Given the description of an element on the screen output the (x, y) to click on. 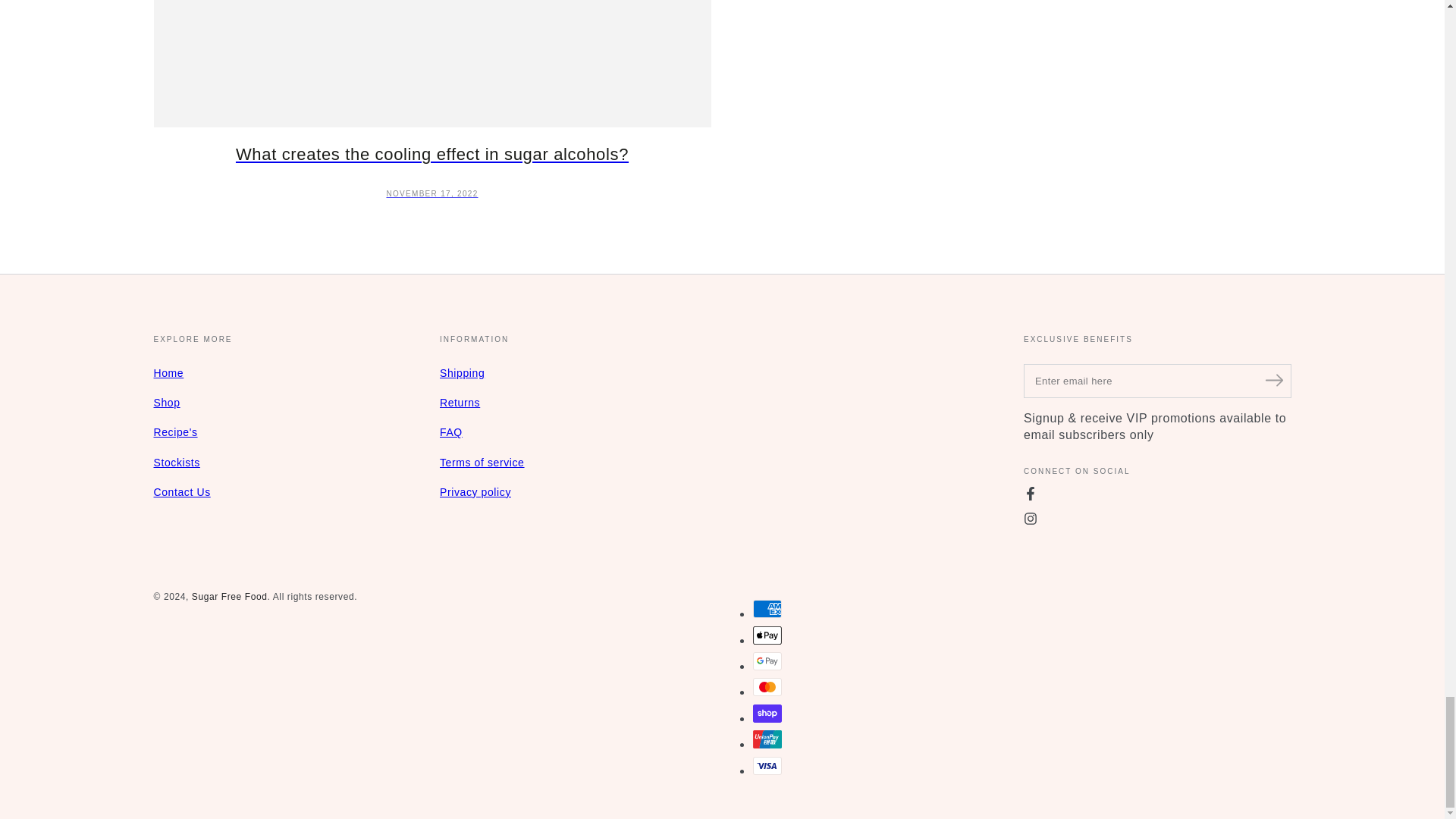
Google Pay (766, 660)
Visa (766, 765)
Mastercard (766, 687)
American Express (766, 608)
Union Pay (766, 739)
Shop Pay (766, 713)
Apple Pay (766, 635)
